Given the description of an element on the screen output the (x, y) to click on. 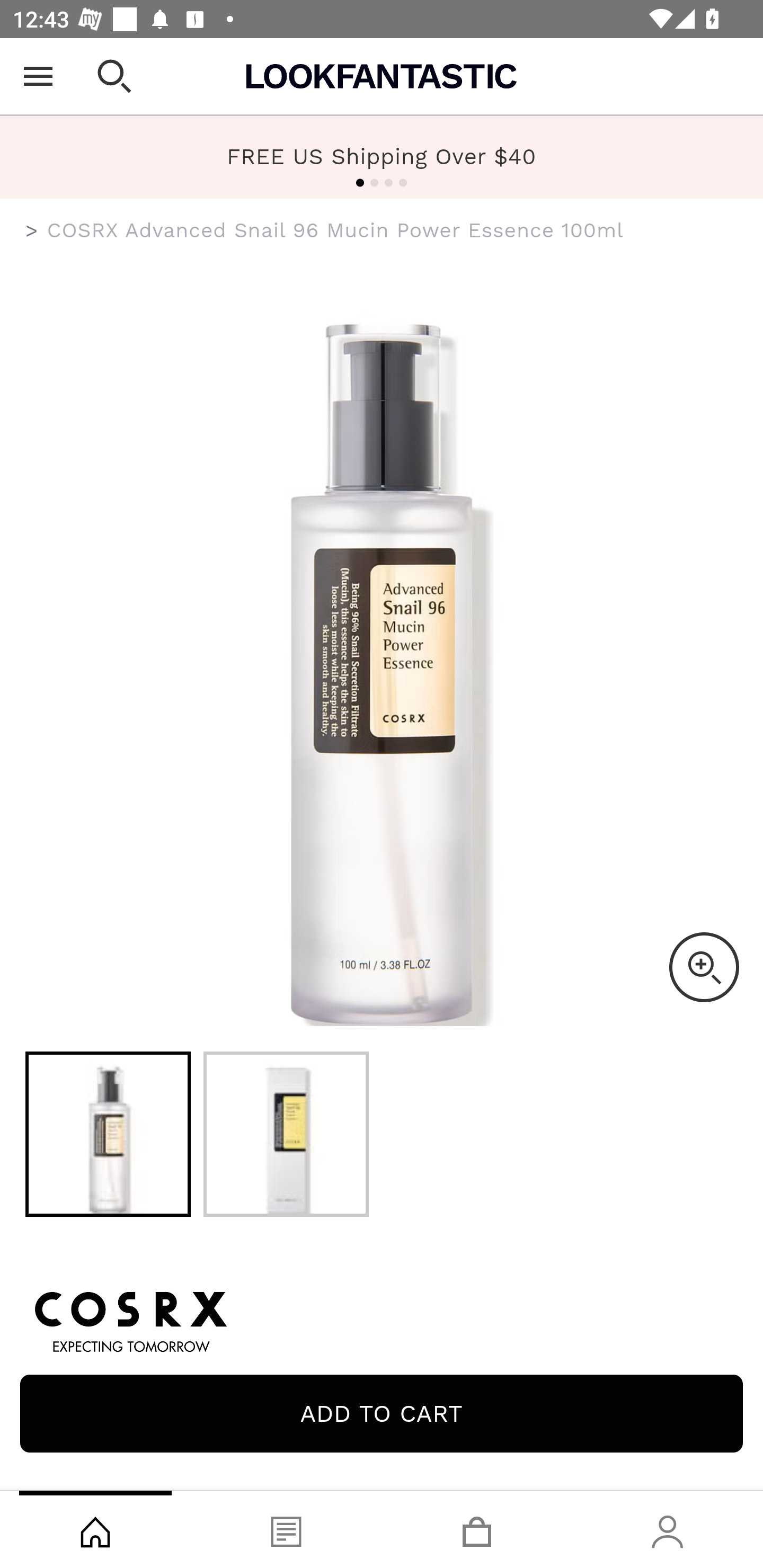
Open Menu (38, 75)
Open search (114, 75)
Lookfantastic USA (381, 75)
FREE US Shipping Over $40 (381, 157)
FREE US Shipping Over $40 (381, 155)
us.lookfantastic (32, 230)
Zoom (704, 967)
COSRX (381, 1319)
Add to cart (381, 1413)
Shop, tab, 1 of 4 (95, 1529)
Blog, tab, 2 of 4 (285, 1529)
Basket, tab, 3 of 4 (476, 1529)
Account, tab, 4 of 4 (667, 1529)
